Given the description of an element on the screen output the (x, y) to click on. 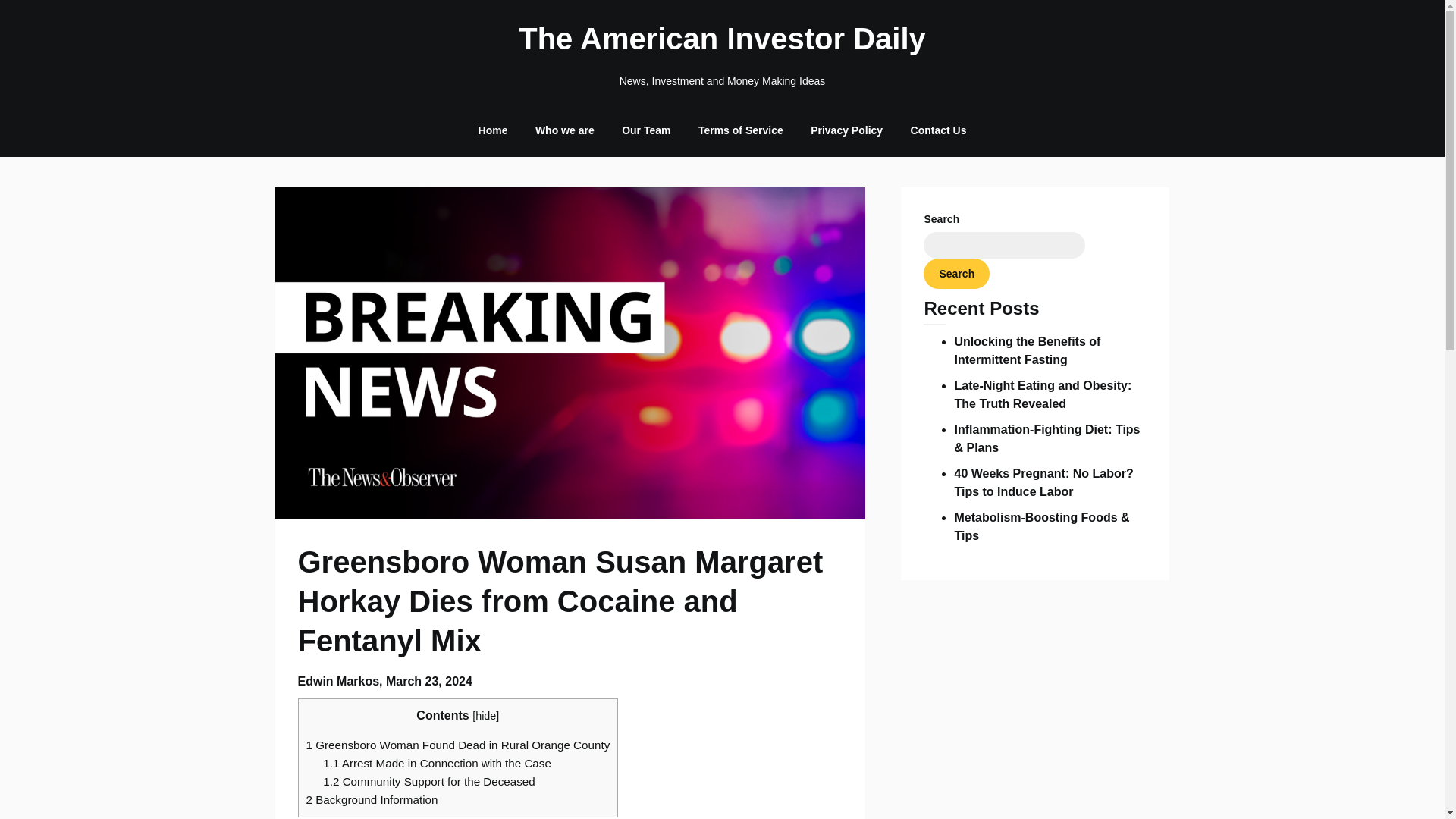
Unlocking the Benefits of Intermittent Fasting (1026, 350)
1 Greensboro Woman Found Dead in Rural Orange County (457, 744)
The American Investor Daily (722, 38)
40 Weeks Pregnant: No Labor? Tips to Induce Labor (1042, 481)
Late-Night Eating and Obesity: The Truth Revealed (1042, 394)
1.2 Community Support for the Deceased (428, 780)
Home (492, 130)
Privacy Policy (846, 130)
1.1 Arrest Made in Connection with the Case (437, 762)
hide (486, 715)
Terms of Service (739, 130)
Our Team (646, 130)
Search (956, 273)
March 23, 2024 (428, 680)
Contact Us (938, 130)
